Given the description of an element on the screen output the (x, y) to click on. 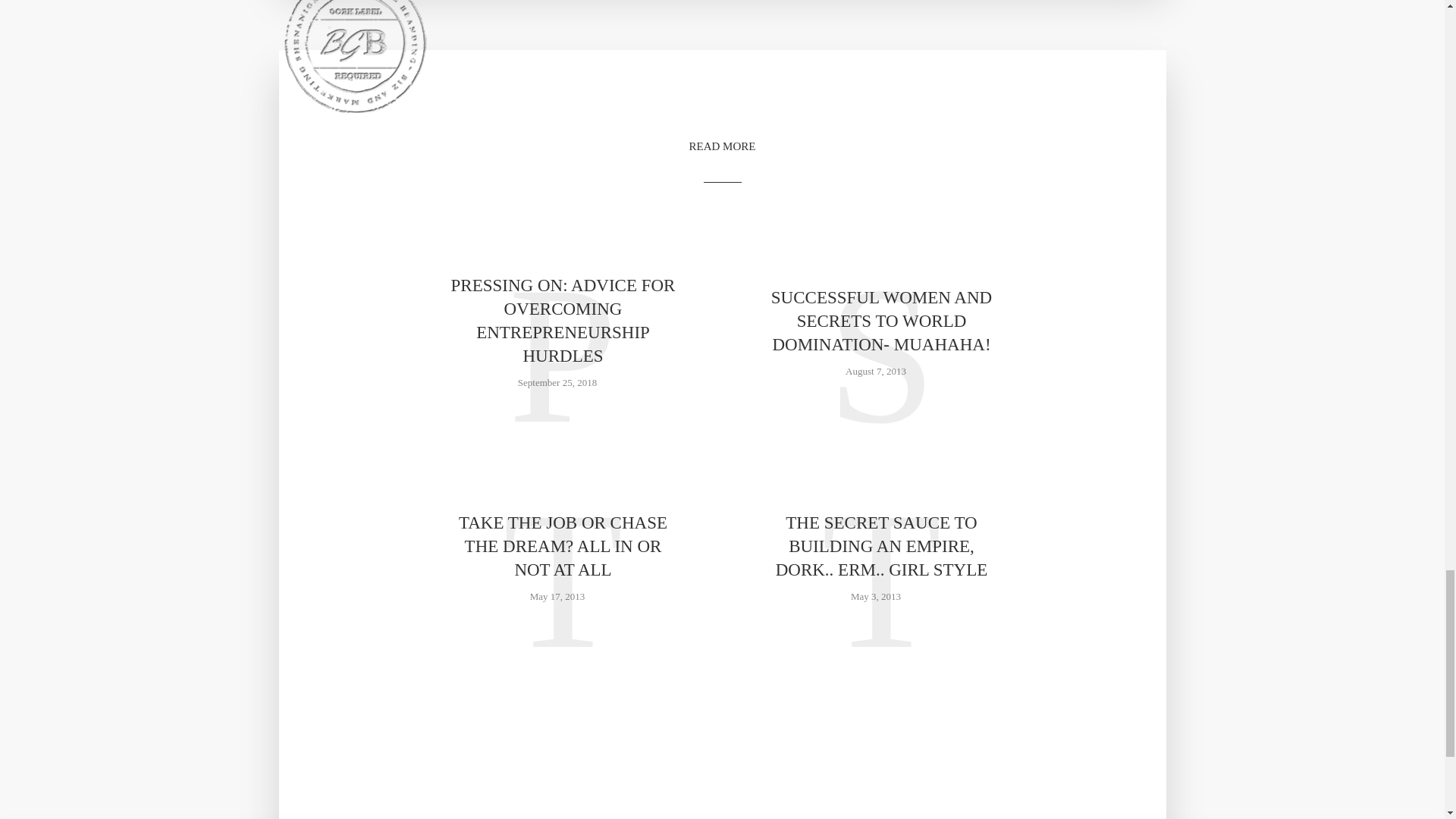
TAKE THE JOB OR CHASE THE DREAM? ALL IN OR NOT AT ALL (562, 546)
PRESSING ON: ADVICE FOR OVERCOMING ENTREPRENEURSHIP HURDLES (562, 320)
SUCCESSFUL WOMEN AND SECRETS TO WORLD DOMINATION- MUAHAHA! (880, 320)
